Given the description of an element on the screen output the (x, y) to click on. 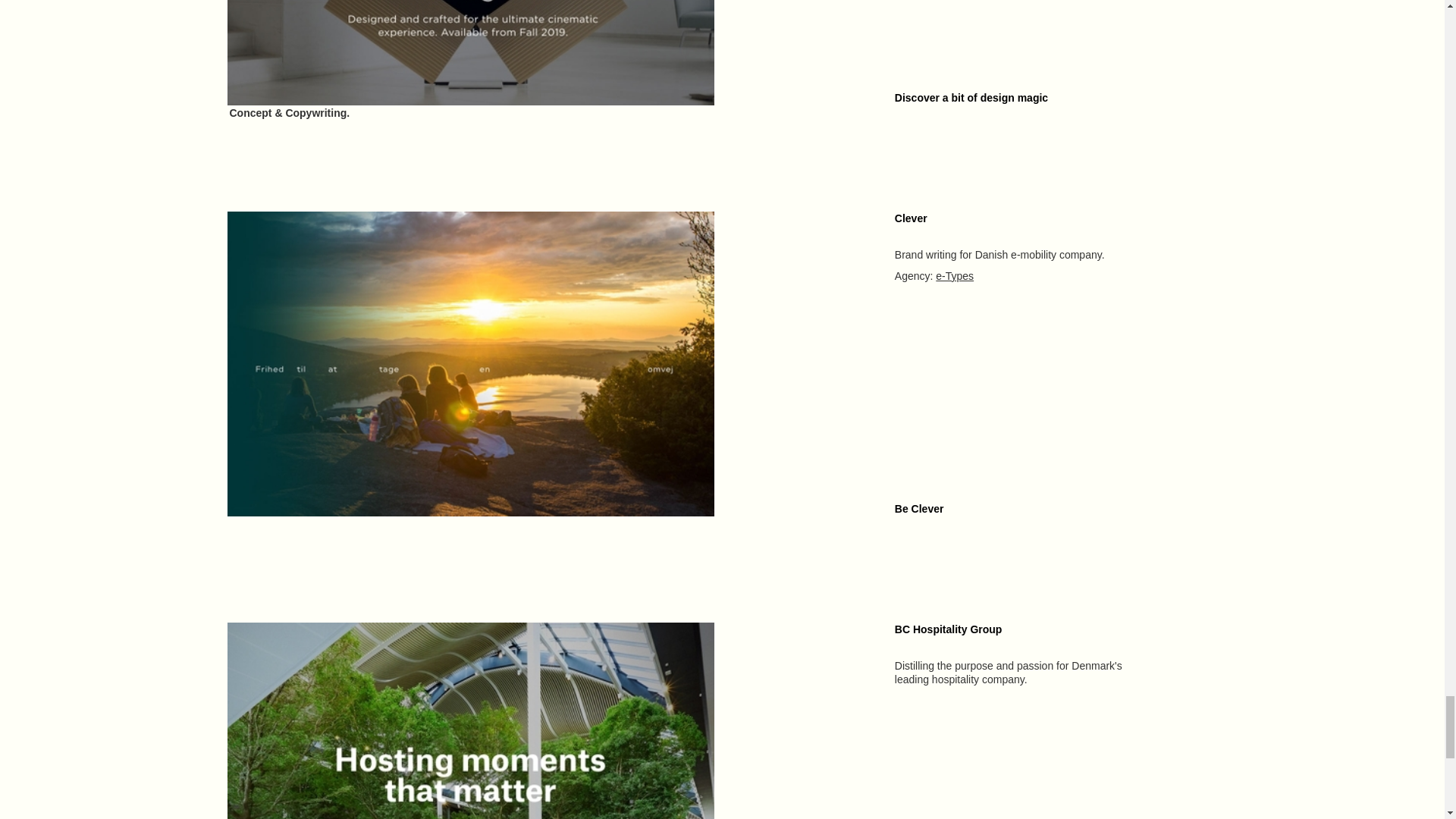
Discover a bit of design magic (971, 97)
e-Types (955, 275)
Be Clever (919, 508)
